Given the description of an element on the screen output the (x, y) to click on. 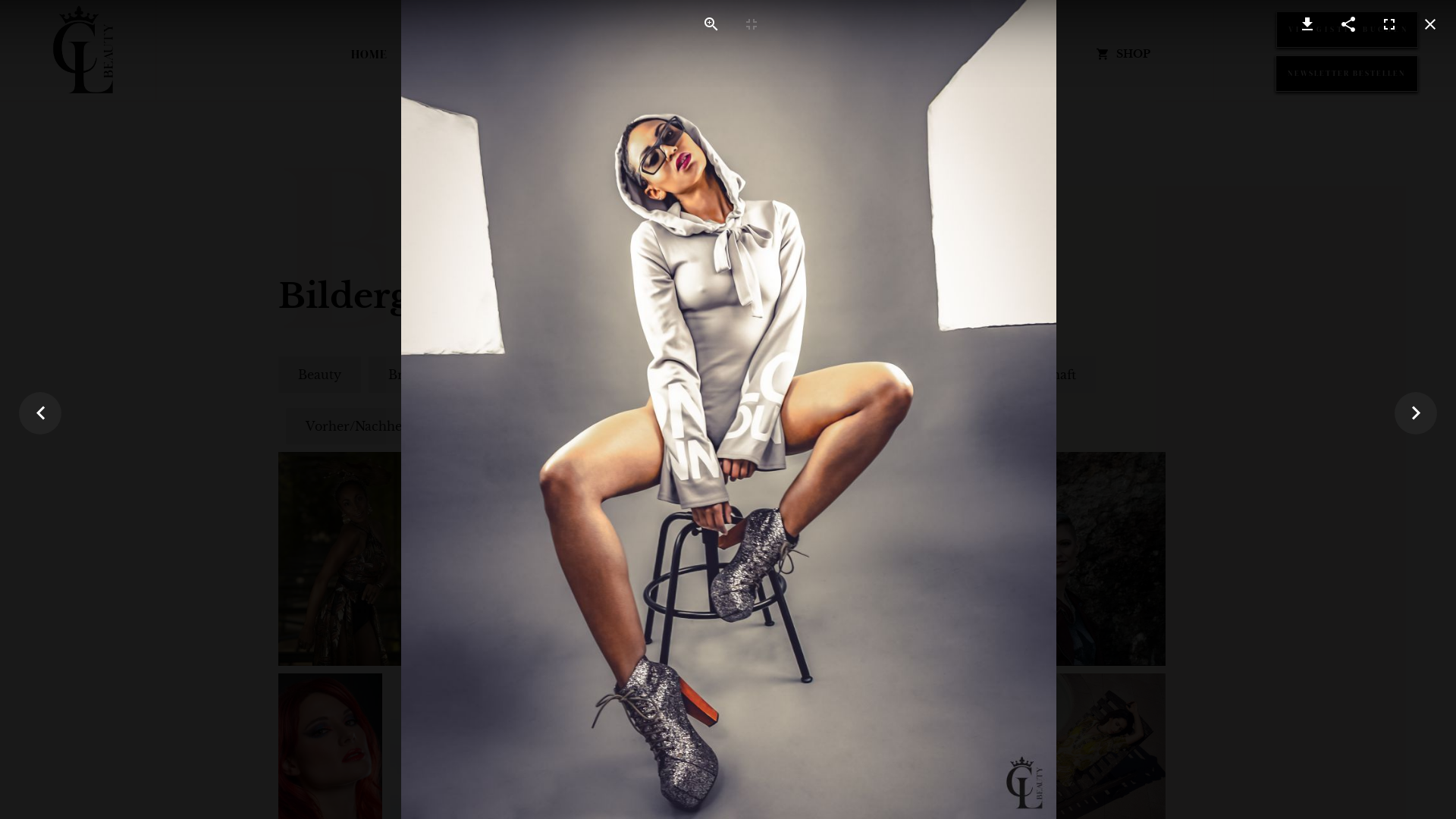
Fashion Element type: text (493, 374)
Kreativ Element type: text (587, 374)
BERATUNG Element type: text (611, 53)
NEWSLETTER BESTELLEN Element type: text (1346, 73)
Lash Lifting Element type: text (841, 374)
Braut Element type: text (405, 374)
BILDERGALERIE Element type: text (821, 53)
HOME Element type: text (369, 53)
Lash Extensions Element type: text (706, 374)
Vorher/Nachher Element type: text (356, 425)
SHOP Element type: text (1122, 53)
KONTAKT Element type: text (1024, 53)
BEHANDLUNG Element type: text (709, 53)
REFERENZEN Element type: text (933, 53)
Schweizer Meisterschaft Element type: text (1000, 374)
VISAGISTIN BUCHEN Element type: text (1347, 29)
Beauty Element type: text (319, 374)
MAKE-UP Element type: text (528, 53)
